Given the description of an element on the screen output the (x, y) to click on. 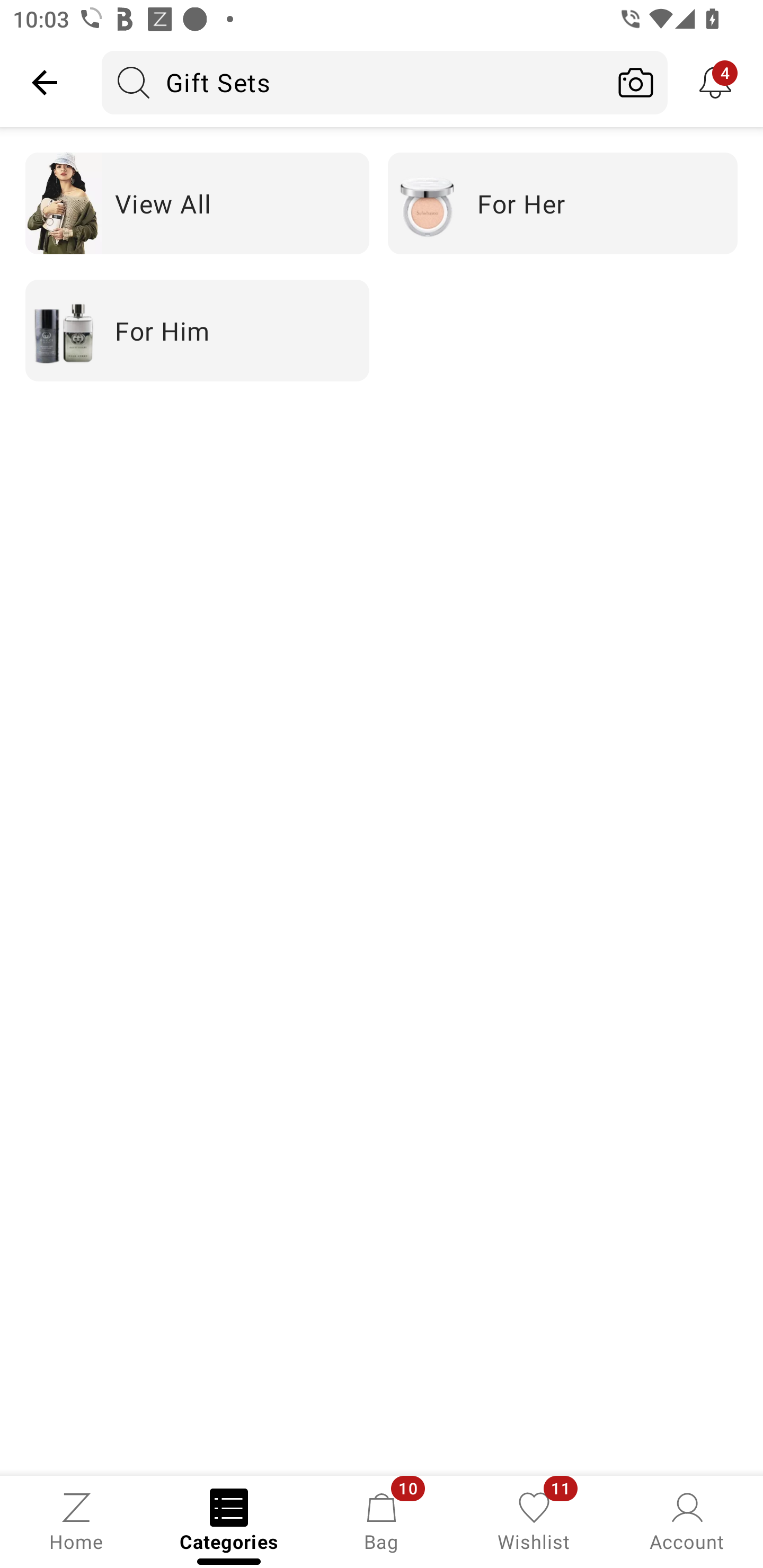
Navigate up (44, 82)
Gift Sets (352, 82)
View All (197, 203)
For Her (562, 203)
For Him (197, 330)
Home (76, 1519)
Bag, 10 new notifications Bag (381, 1519)
Wishlist, 11 new notifications Wishlist (533, 1519)
Account (686, 1519)
